Given the description of an element on the screen output the (x, y) to click on. 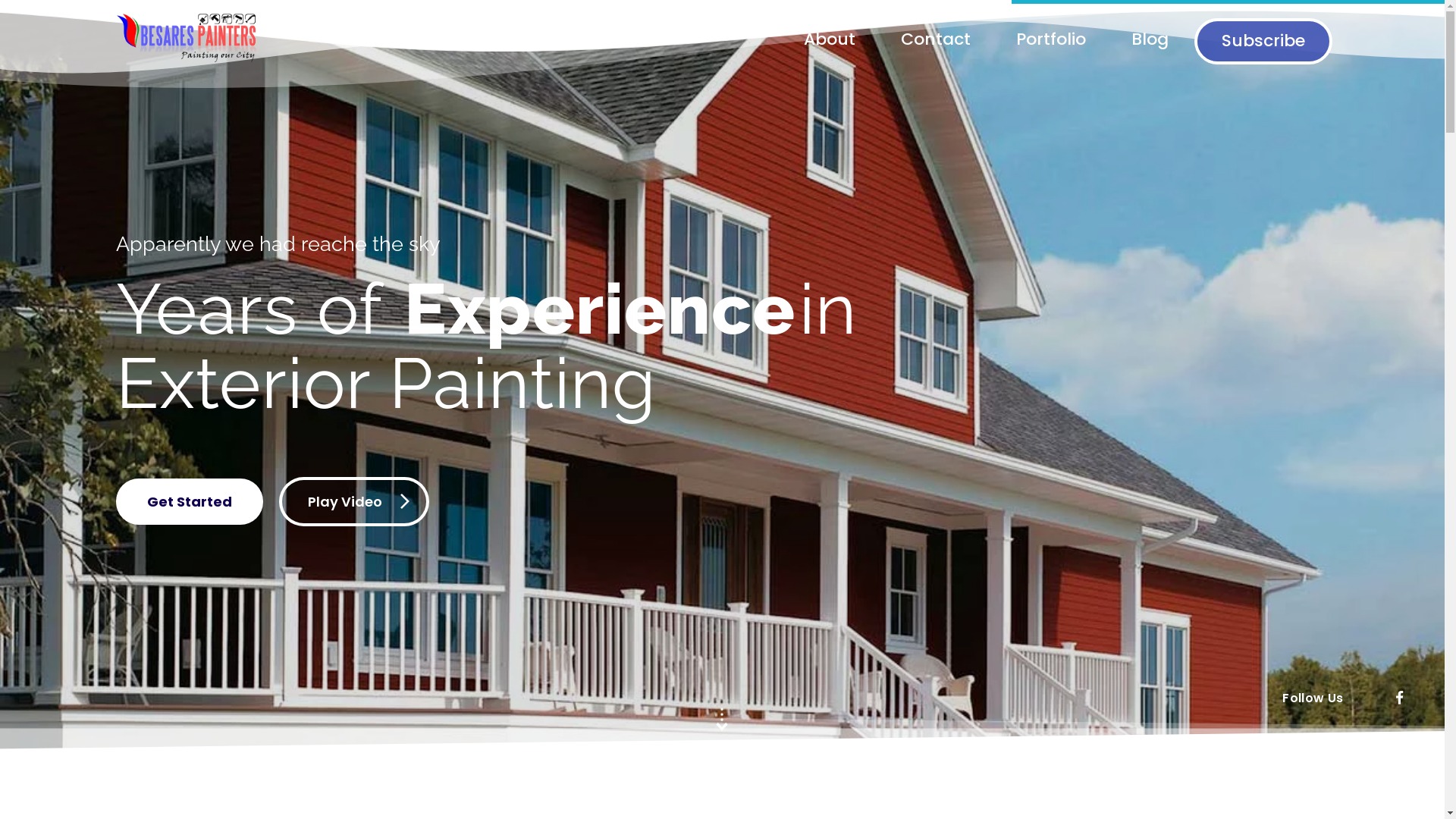
Contact Element type: text (912, 38)
Blog Element type: text (1126, 38)
About Element type: text (806, 38)
Get Started Element type: text (188, 501)
Portfolio Element type: text (1027, 38)
Subscribe Element type: text (1262, 41)
Besares Painters Element type: hover (190, 36)
Play Video Element type: text (354, 501)
Besares Painters Element type: text (187, 70)
